Given the description of an element on the screen output the (x, y) to click on. 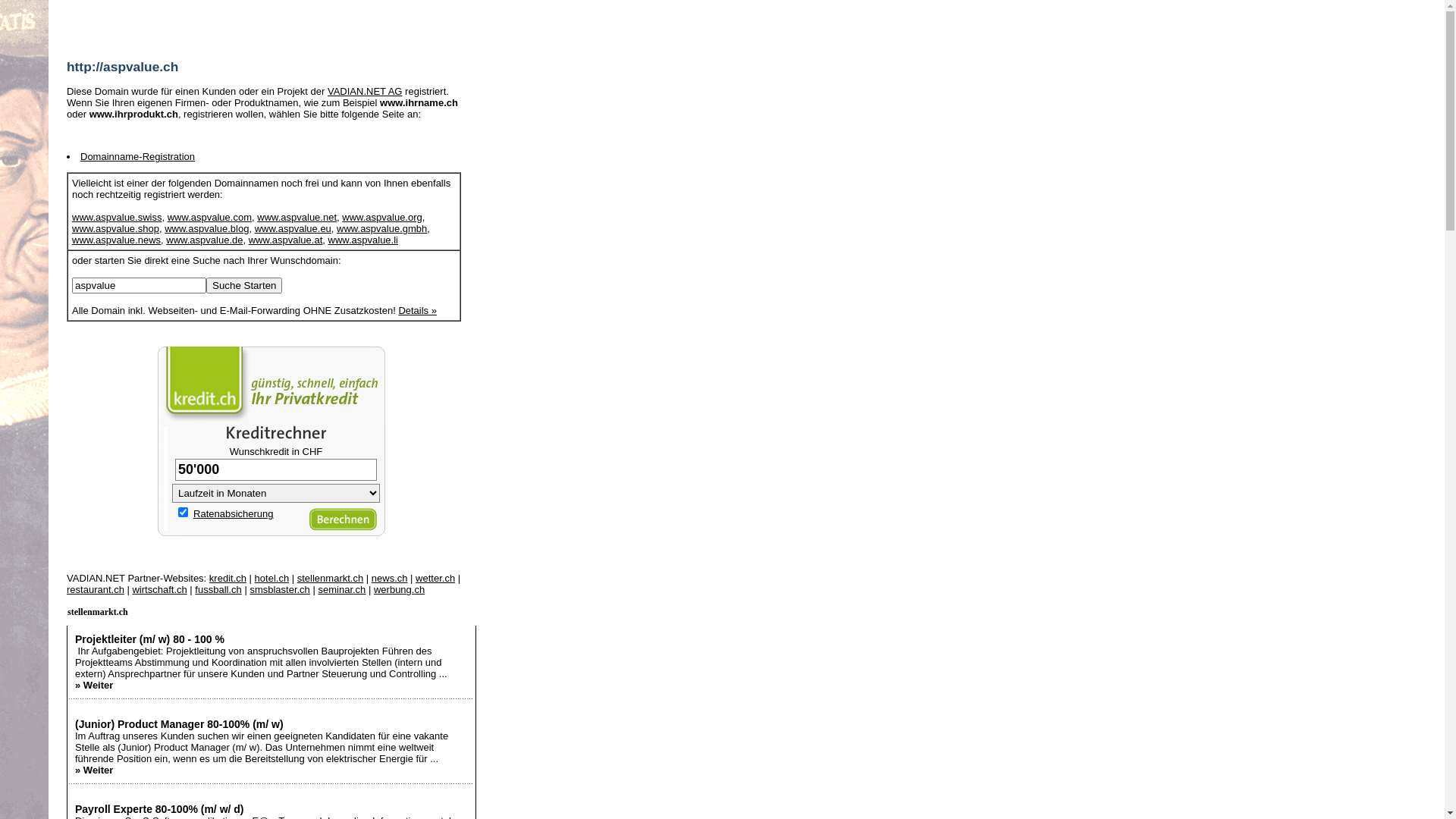
kredit.ch Element type: text (227, 577)
fussball.ch Element type: text (217, 589)
www.aspvalue.gmbh Element type: text (381, 228)
Projektleiter (m/ w) 80 - 100 % Element type: text (149, 639)
hotel.ch Element type: text (271, 577)
stellenmarkt.ch Element type: text (97, 611)
VADIAN.NET AG Element type: text (364, 91)
www.aspvalue.eu Element type: text (292, 228)
werbung.ch Element type: text (398, 589)
(Junior) Product Manager 80-100% (m/ w) Element type: text (179, 724)
www.aspvalue.swiss Element type: text (117, 216)
Domainname-Registration Element type: text (137, 156)
wetter.ch Element type: text (435, 577)
www.aspvalue.li Element type: text (362, 239)
seminar.ch Element type: text (341, 589)
www.aspvalue.net Element type: text (296, 216)
wirtschaft.ch Element type: text (158, 589)
news.ch Element type: text (389, 577)
www.aspvalue.blog Element type: text (206, 228)
Suche Starten Element type: text (244, 285)
www.aspvalue.news Element type: text (116, 239)
www.aspvalue.shop Element type: text (115, 228)
stellenmarkt.ch Element type: text (330, 577)
Payroll Experte 80-100% (m/ w/ d) Element type: text (159, 809)
www.aspvalue.org Element type: text (382, 216)
www.aspvalue.com Element type: text (209, 216)
www.aspvalue.de Element type: text (204, 239)
restaurant.ch Element type: text (95, 589)
www.aspvalue.at Element type: text (285, 239)
smsblaster.ch Element type: text (279, 589)
Ratenabsicherung Element type: text (233, 513)
